Given the description of an element on the screen output the (x, y) to click on. 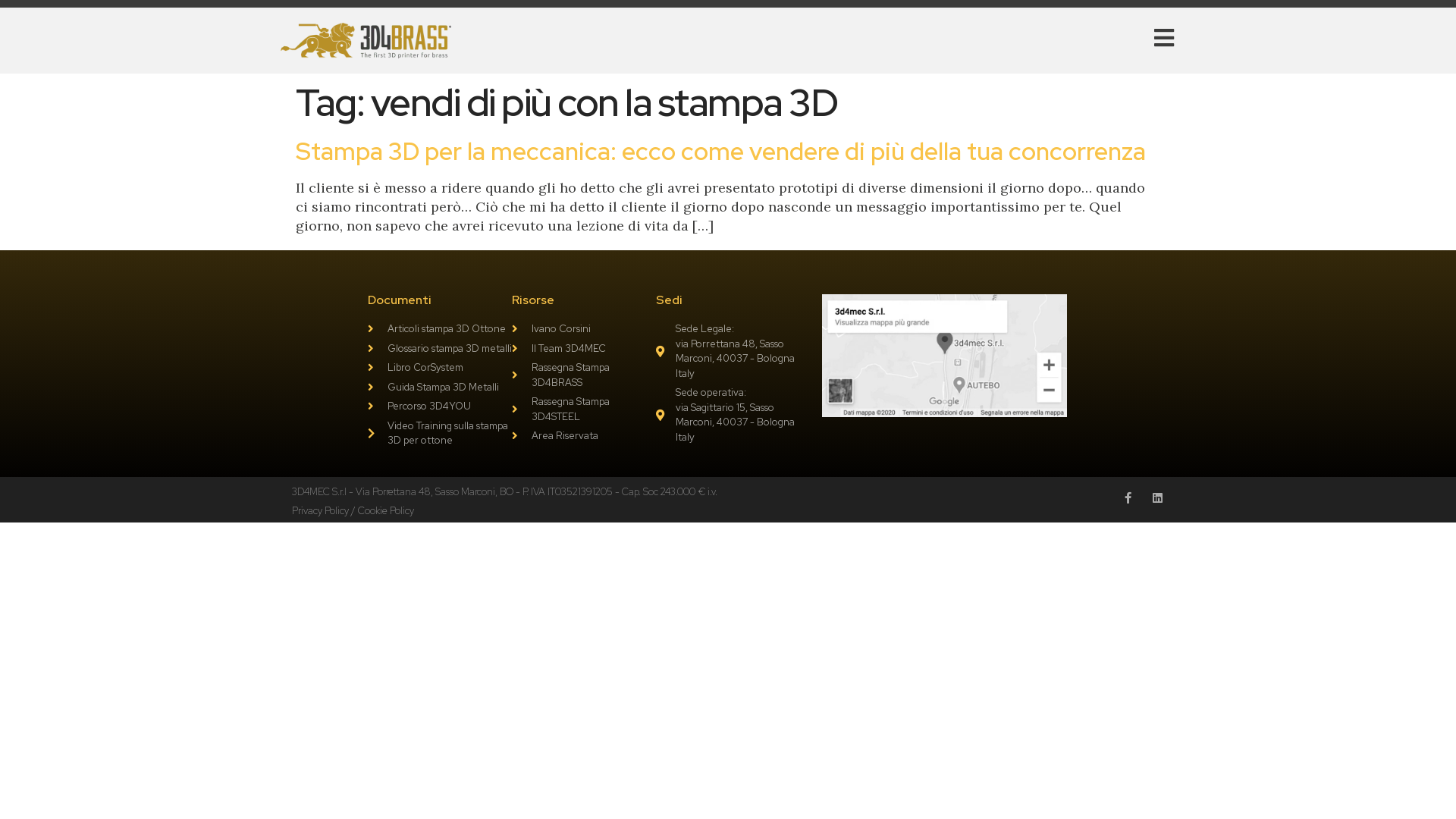
Privacy Policy Element type: text (319, 510)
Rassegna Stampa 3D4STEEL Element type: text (583, 408)
Glossario stampa 3D metalli Element type: text (439, 348)
Il Team 3D4MEC Element type: text (583, 348)
Rassegna Stampa 3D4BRASS Element type: text (583, 374)
Articoli stampa 3D Ottone Element type: text (439, 328)
Video Training sulla stampa 3D per ottone Element type: text (439, 433)
Ivano Corsini Element type: text (583, 328)
Cookie Policy Element type: text (385, 510)
Area Riservata Element type: text (583, 435)
Guida Stampa 3D Metalli Element type: text (439, 387)
Percorso 3D4YOU Element type: text (439, 406)
Libro CorSystem Element type: text (439, 367)
